Given the description of an element on the screen output the (x, y) to click on. 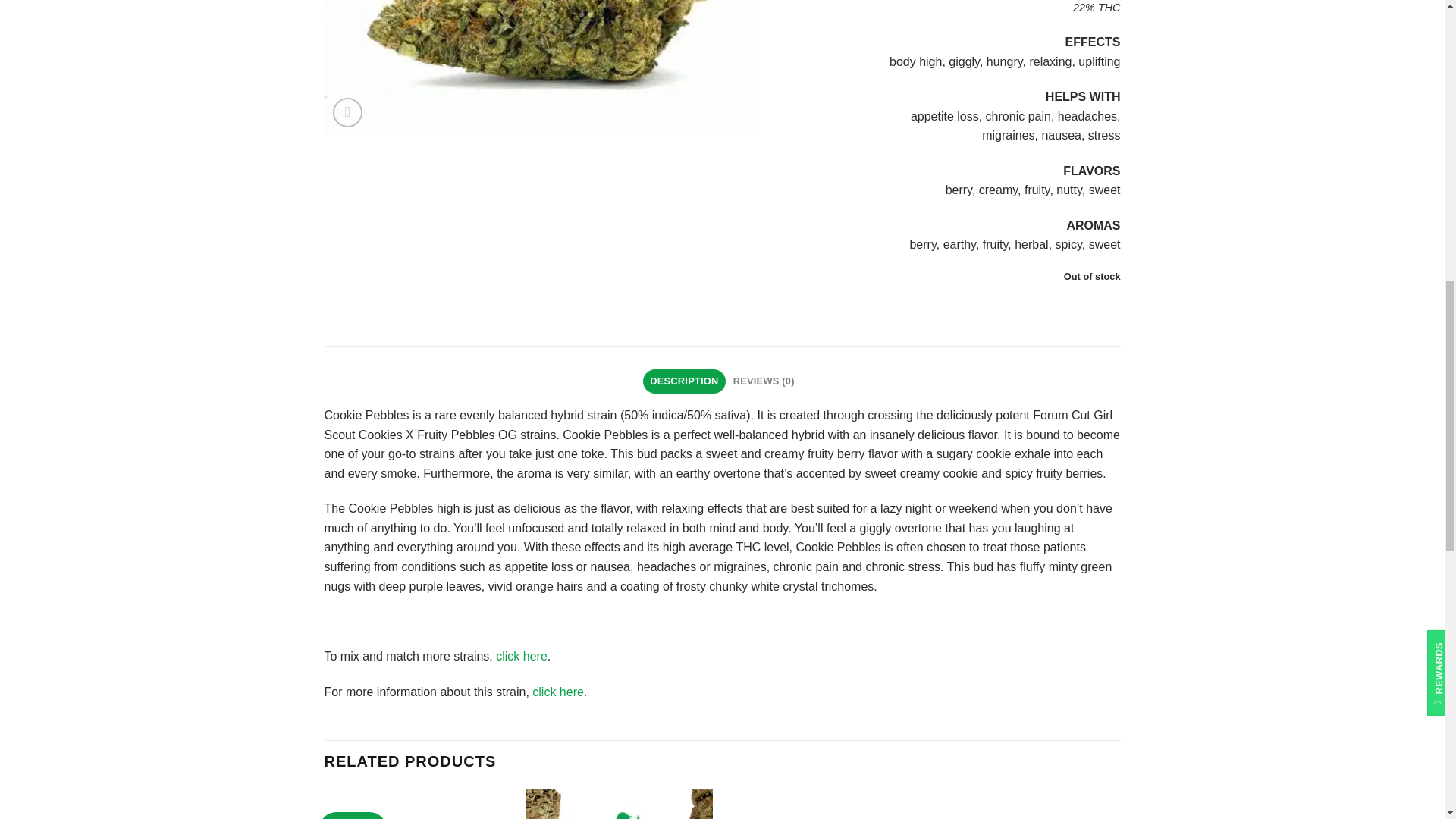
Zoom (347, 112)
cookie-pebbles-e1644558637279-1.jpeg (540, 67)
